Given the description of an element on the screen output the (x, y) to click on. 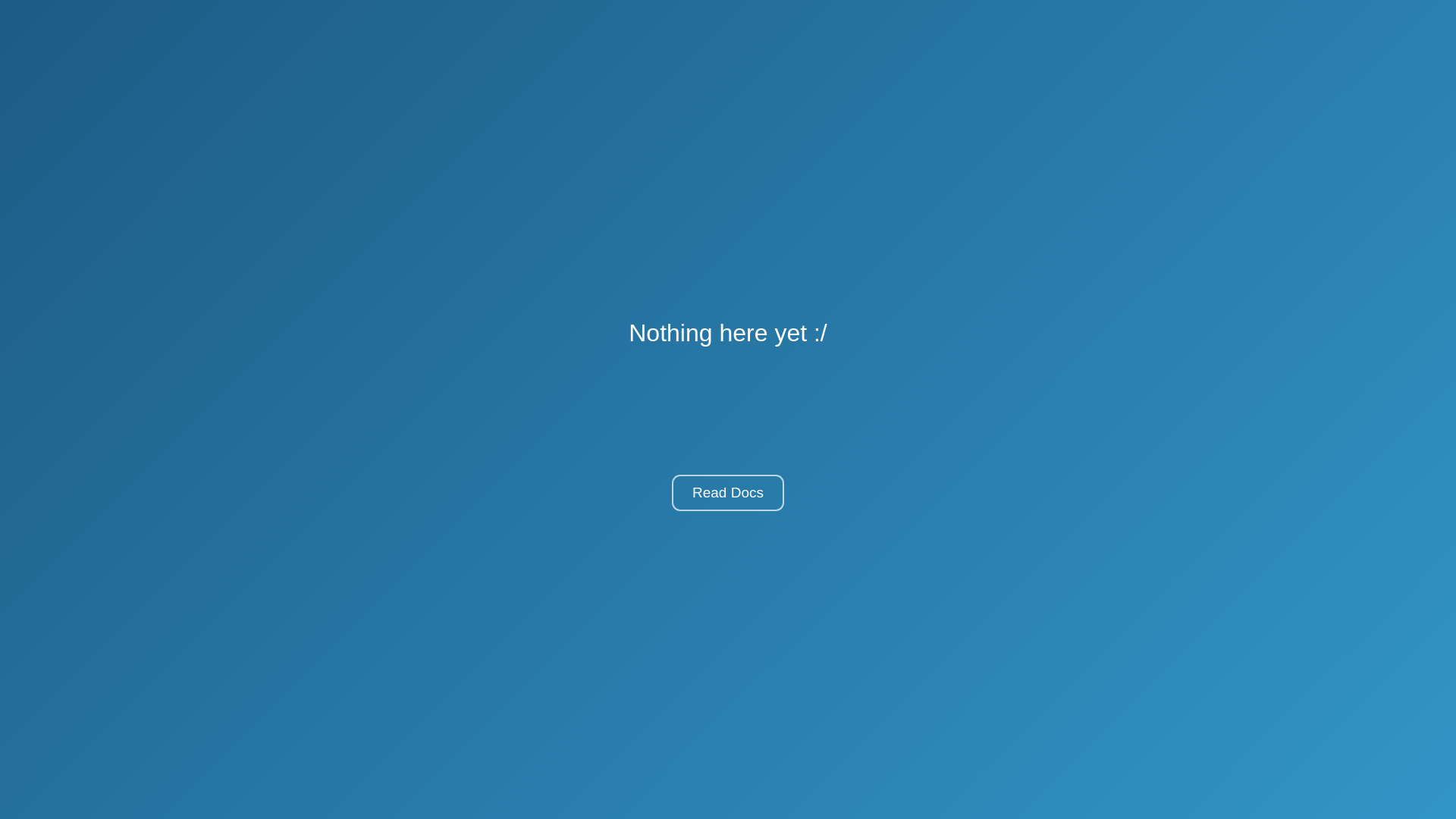
Read Docs (727, 493)
